Given the description of an element on the screen output the (x, y) to click on. 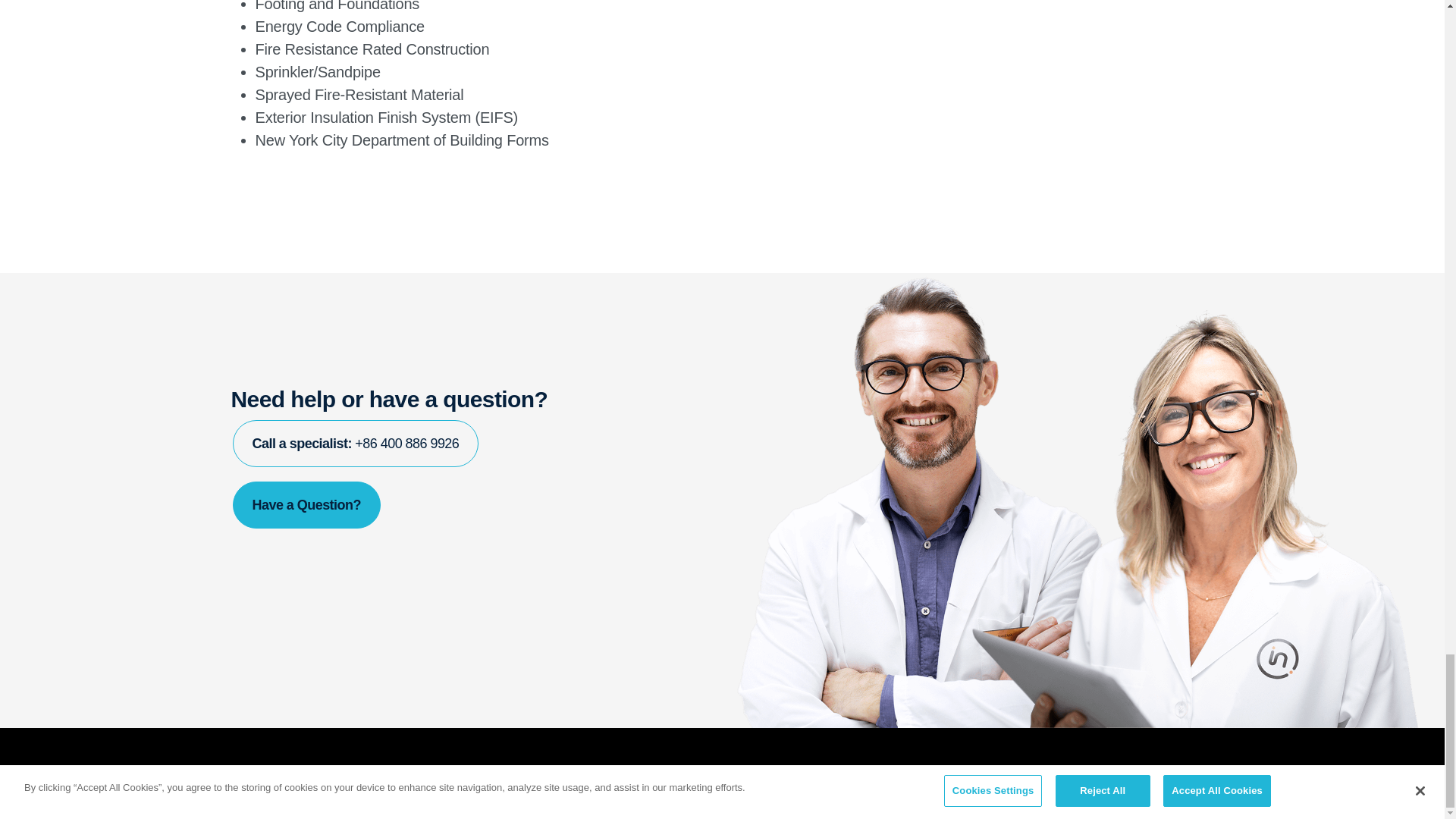
Phone (355, 443)
Intertek Intertek Brand Roundel Logo (253, 773)
